Given the description of an element on the screen output the (x, y) to click on. 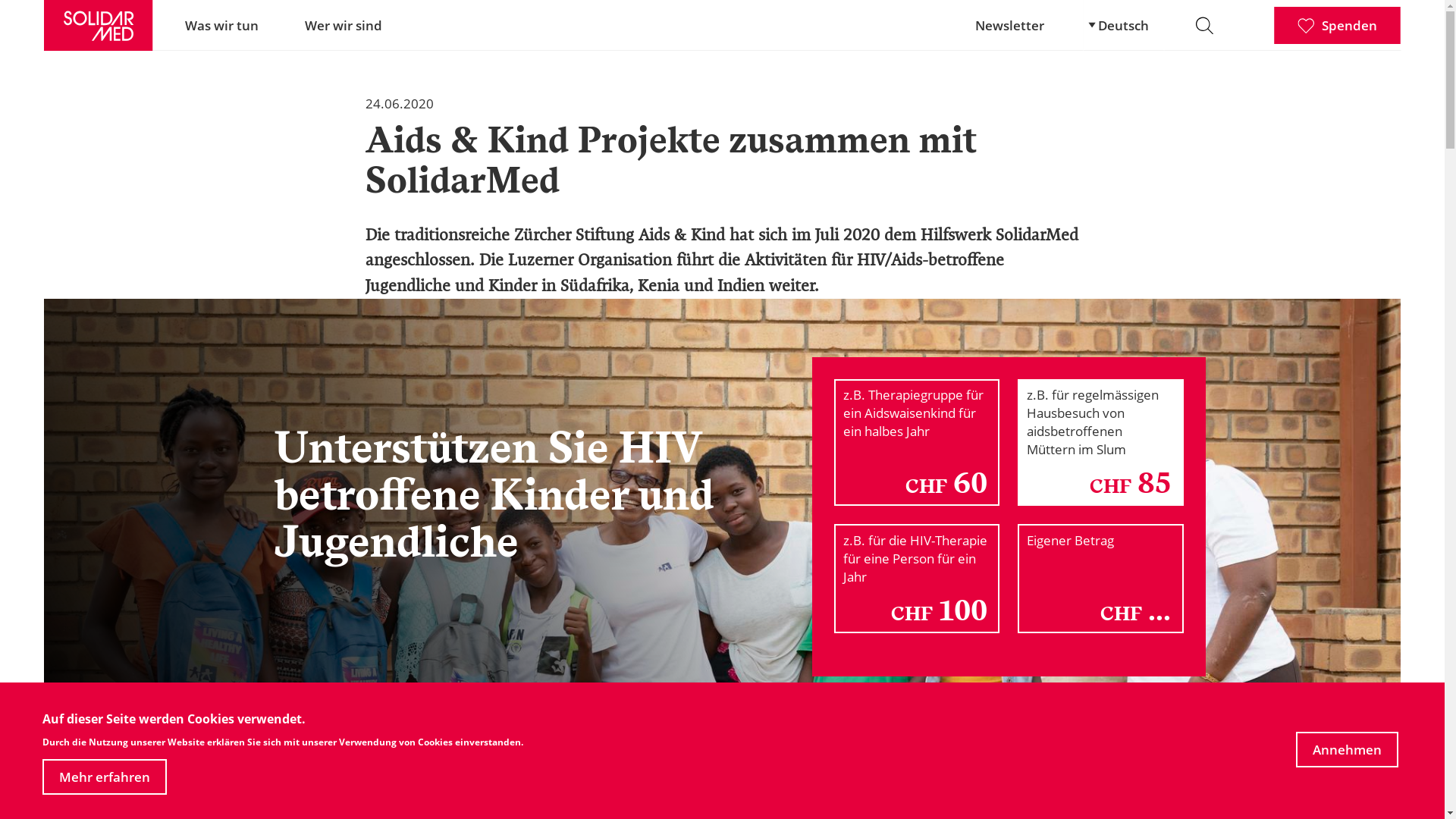
Spenden Element type: text (1337, 25)
Annehmen Element type: text (1346, 749)
English Element type: text (1122, 32)
Newsletter Element type: text (1009, 25)
Was wir tun Element type: text (221, 25)
Mehr erfahren Element type: text (104, 776)
Wer wir sind Element type: text (343, 25)
